Given the description of an element on the screen output the (x, y) to click on. 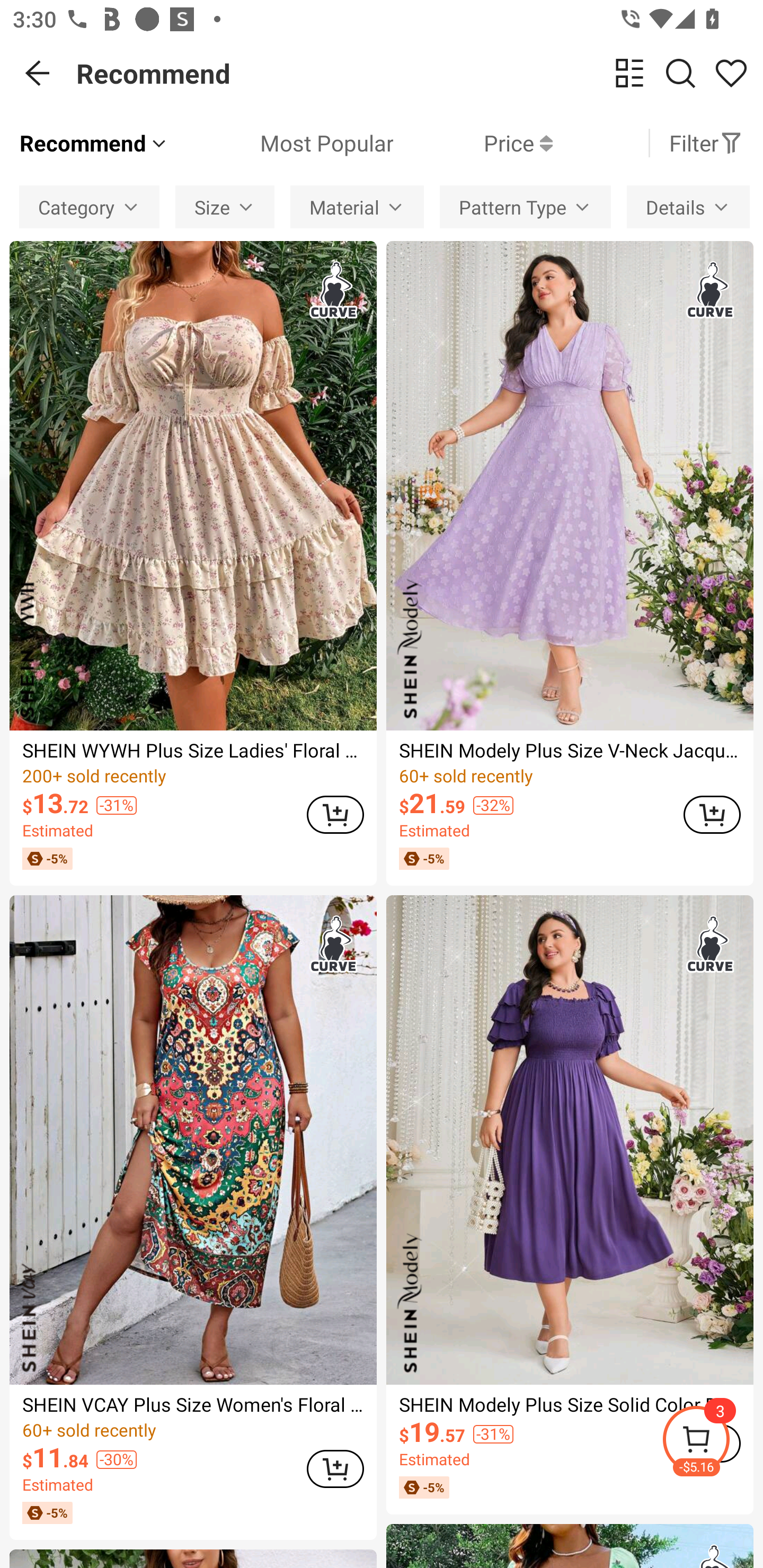
Recommend change view Search Share (419, 72)
change view (629, 72)
Search (679, 72)
Share (730, 72)
Recommend (94, 143)
Most Popular (280, 143)
Price (472, 143)
Filter (705, 143)
Category (89, 206)
Size (224, 206)
Material (357, 206)
Pattern Type (525, 206)
Details (688, 206)
ADD TO CART (334, 814)
ADD TO CART (711, 814)
-$5.16 (712, 1441)
ADD TO CART (334, 1469)
